Given the description of an element on the screen output the (x, y) to click on. 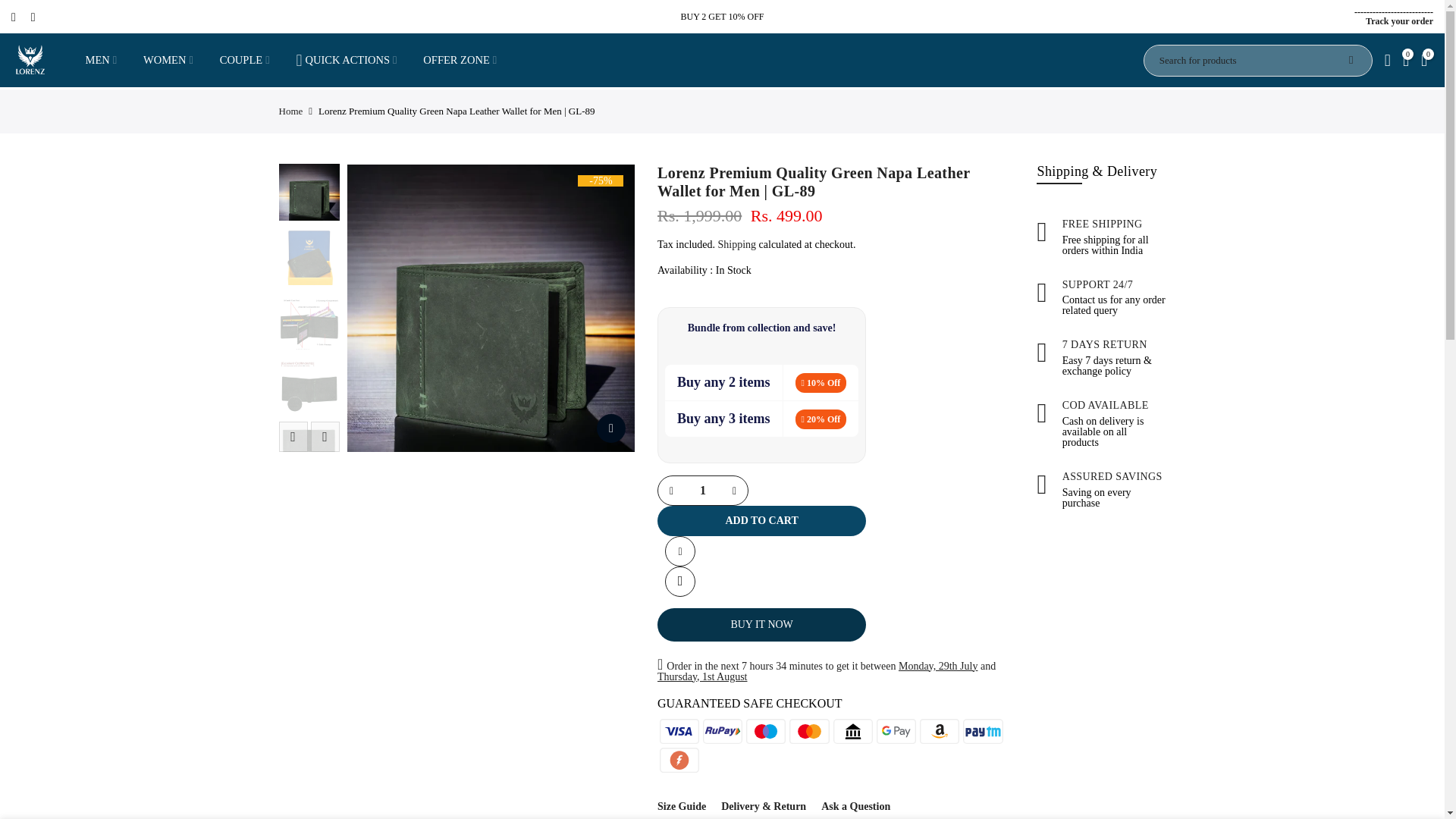
WOMEN (168, 59)
Track your order (1398, 20)
1 (703, 490)
COUPLE (244, 59)
MEN (101, 59)
QUICK ACTIONS (346, 59)
